Given the description of an element on the screen output the (x, y) to click on. 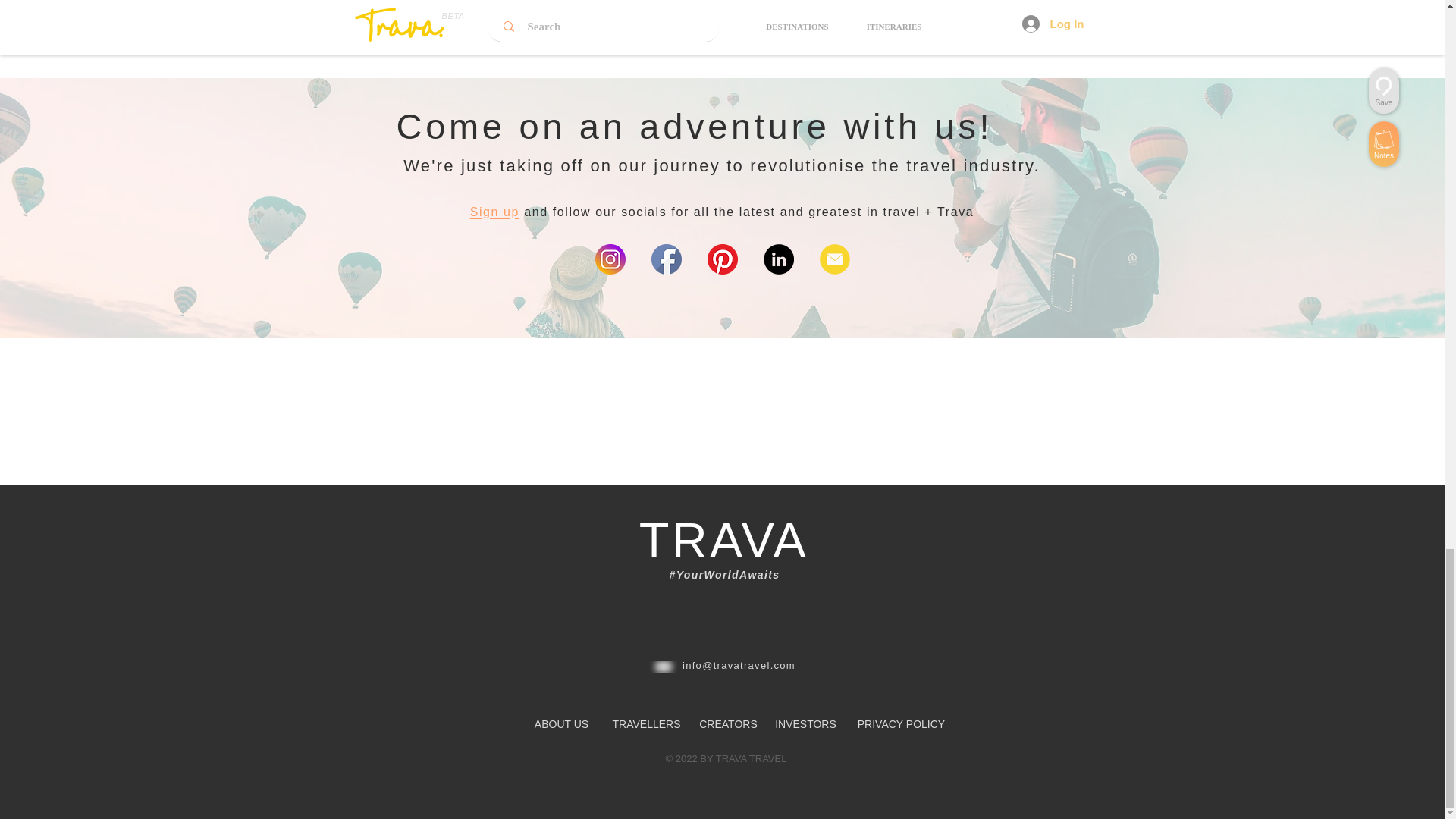
Sign up (494, 210)
ABOUT US (560, 724)
PRIVACY POLICY (900, 724)
CREATORS (727, 724)
INVESTORS (805, 724)
TRAVELLERS (646, 724)
